Given the description of an element on the screen output the (x, y) to click on. 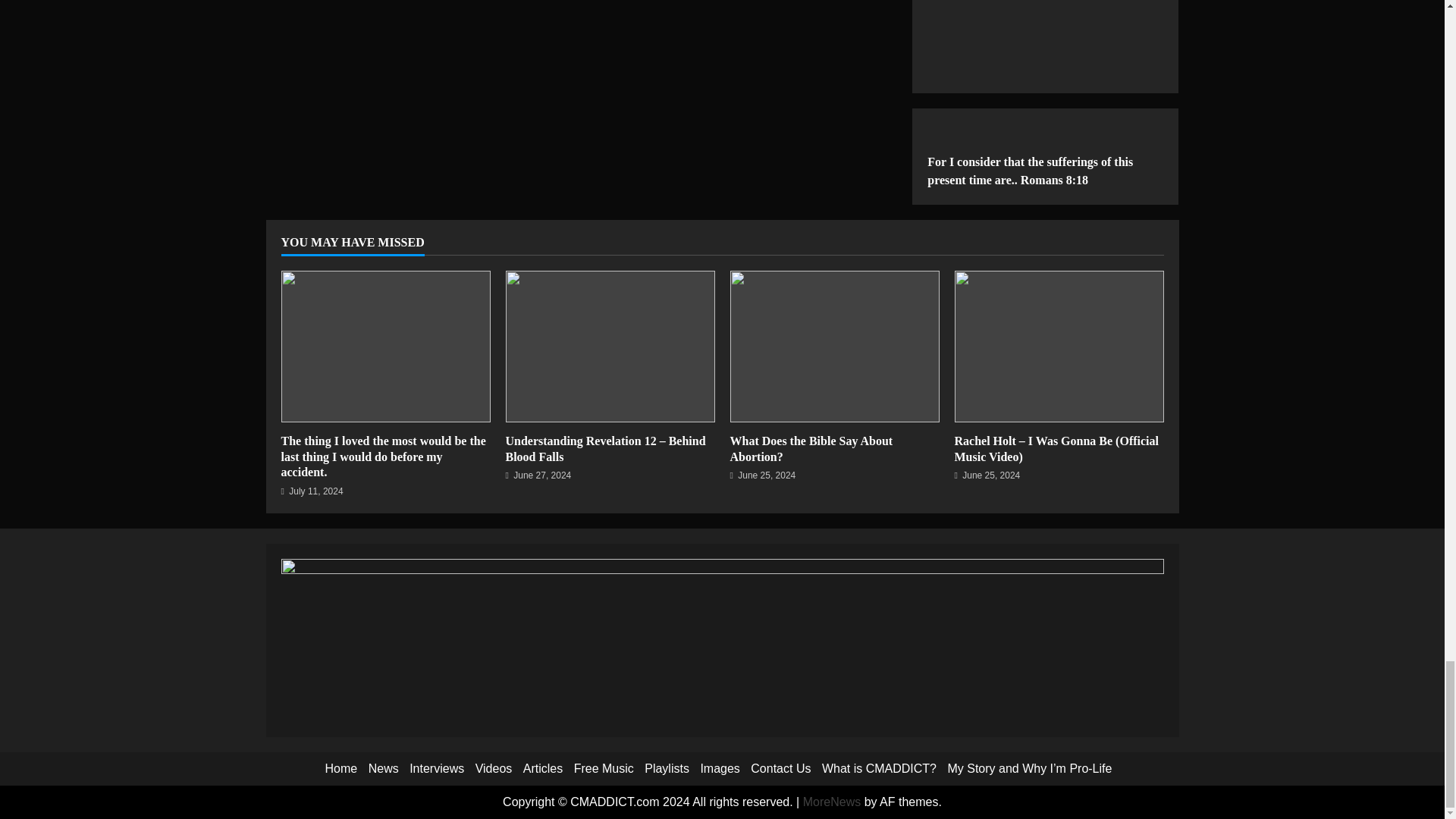
Spotify Embed: Pro-Life Songs (1045, 30)
